Given the description of an element on the screen output the (x, y) to click on. 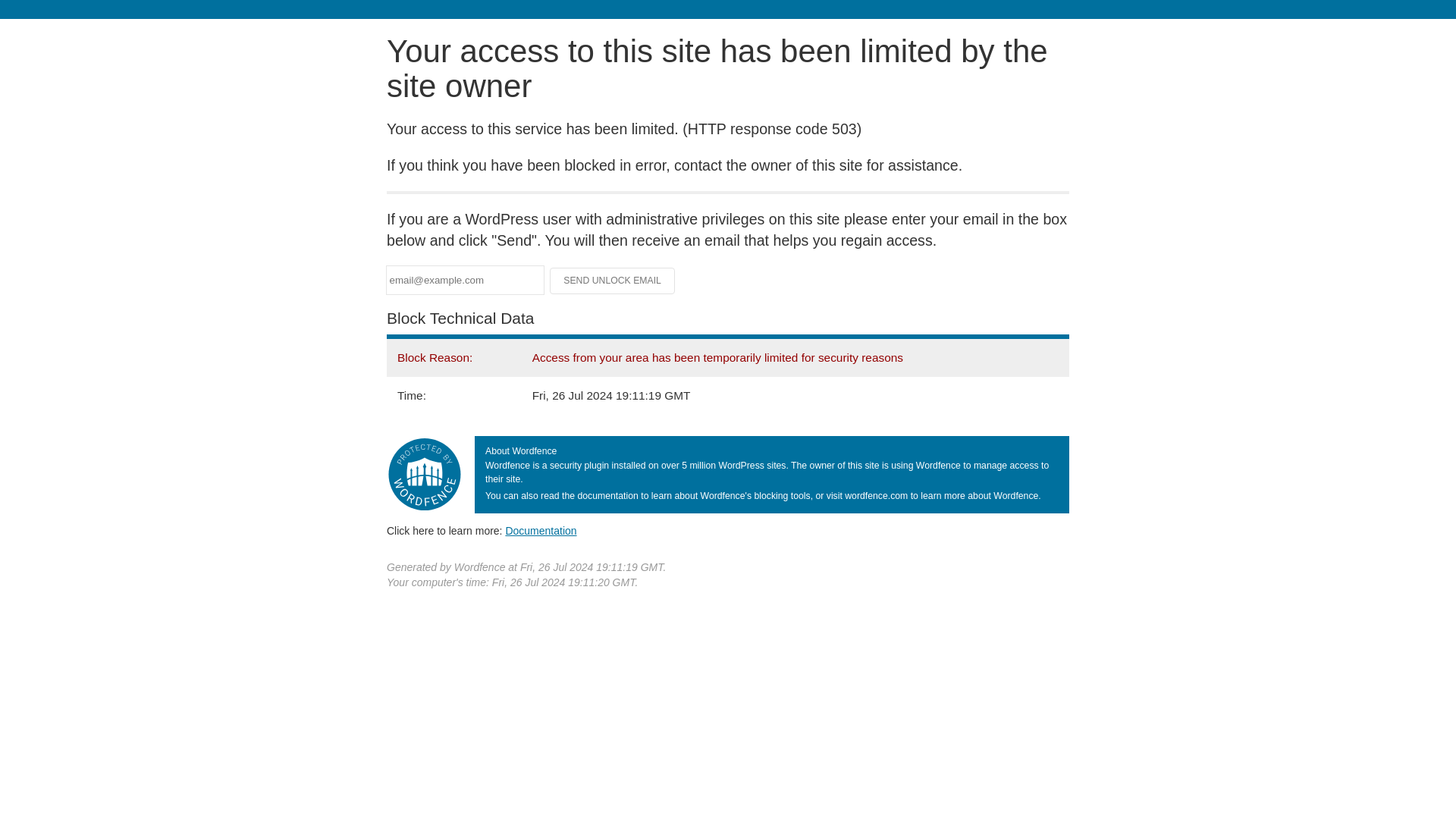
Send Unlock Email (612, 280)
Send Unlock Email (612, 280)
